Given the description of an element on the screen output the (x, y) to click on. 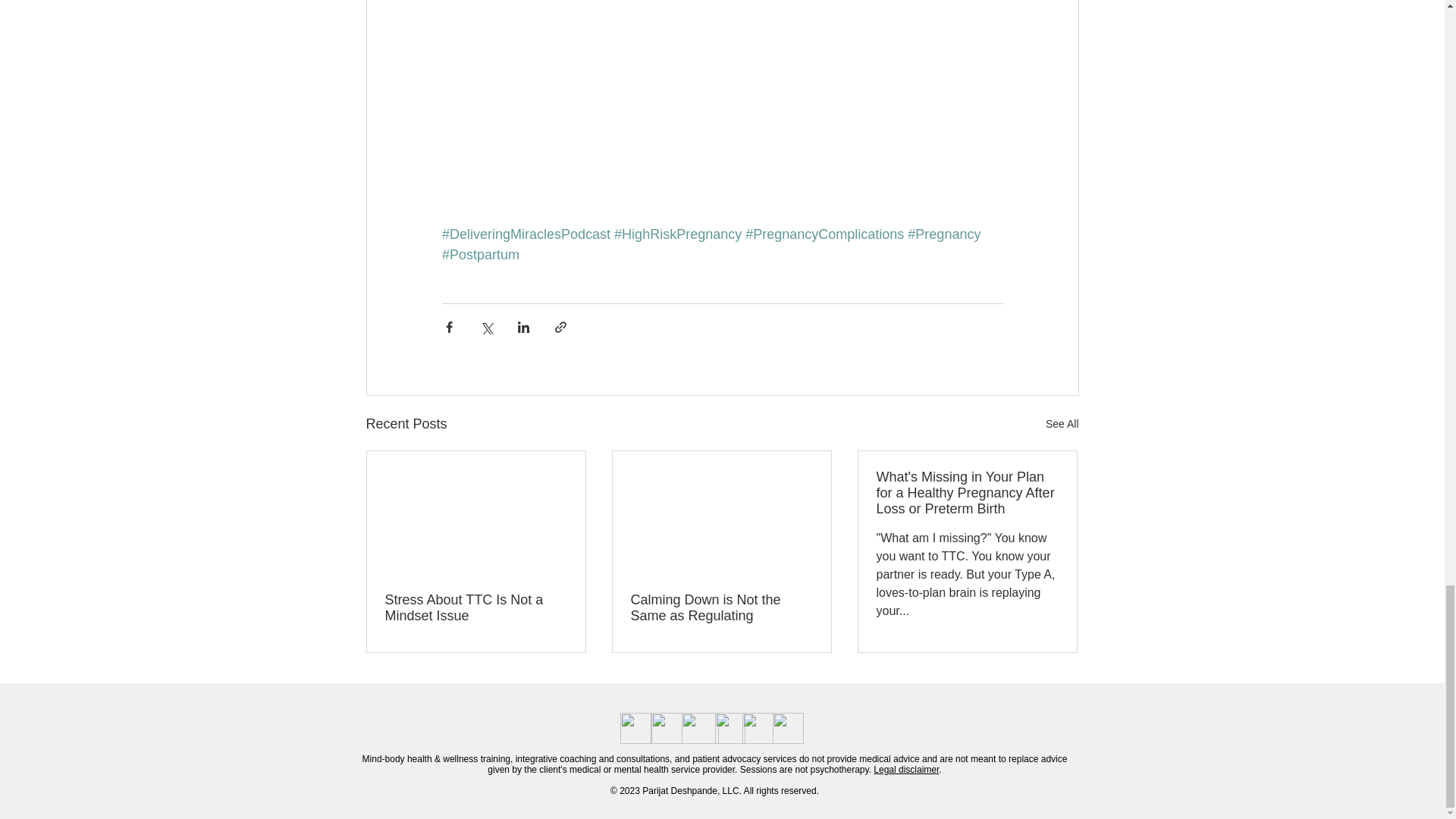
Stress About TTC Is Not a Mindset Issue (476, 608)
Calming Down is Not the Same as Regulating (721, 608)
Instagram.png (699, 727)
linkedin.png (787, 727)
Pinterest.png (729, 727)
Twitter.png (665, 727)
See All (1061, 423)
Youtube.png (757, 727)
